Given the description of an element on the screen output the (x, y) to click on. 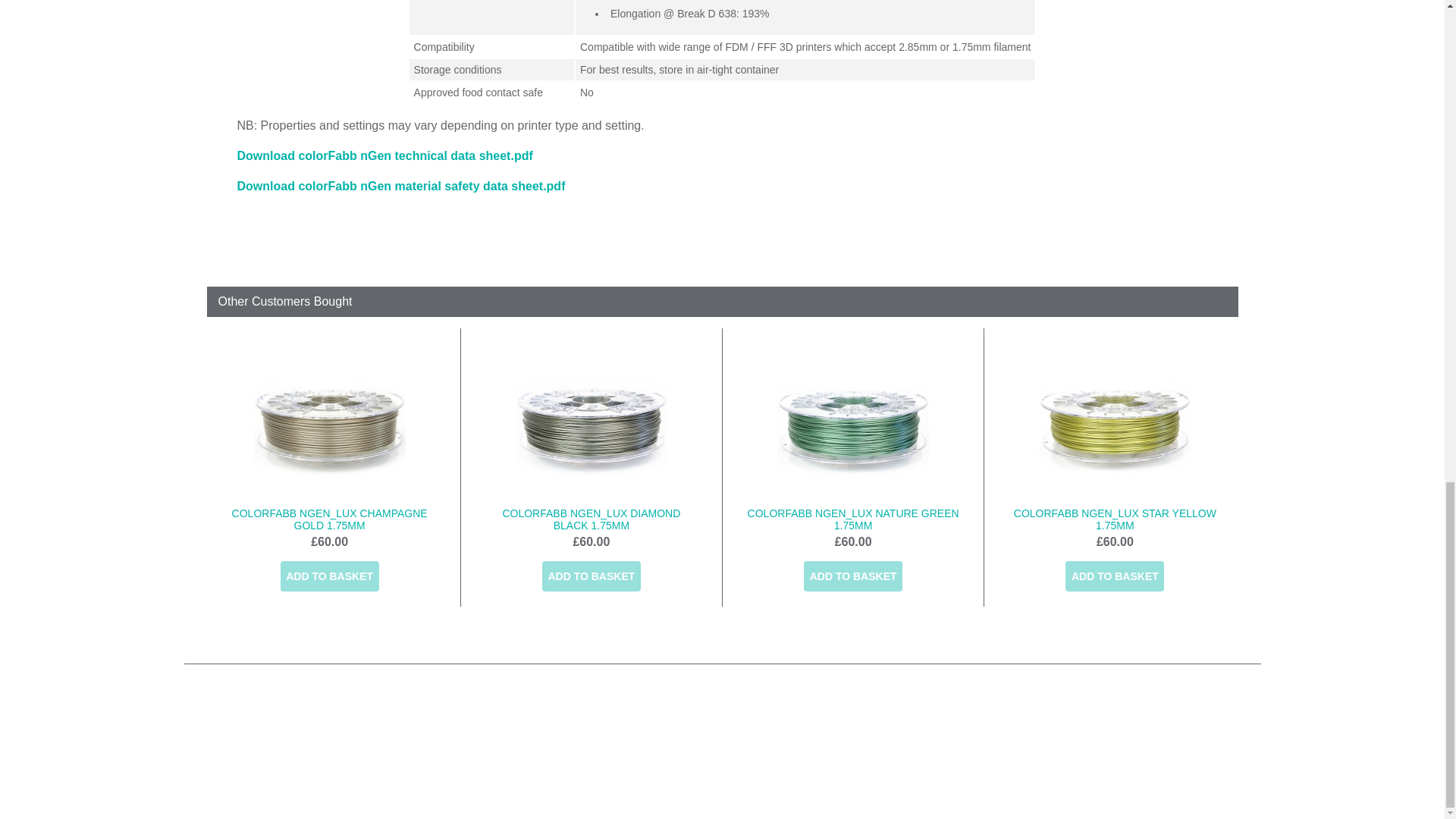
Download colorFabb nGen technical data sheet.pdf (383, 155)
ADD TO BASKET (1114, 576)
Download colorFabb nGen material safety data sheet.pdf (399, 185)
ADD TO BASKET (590, 576)
ADD TO BASKET (329, 576)
ADD TO BASKET (852, 576)
